Given the description of an element on the screen output the (x, y) to click on. 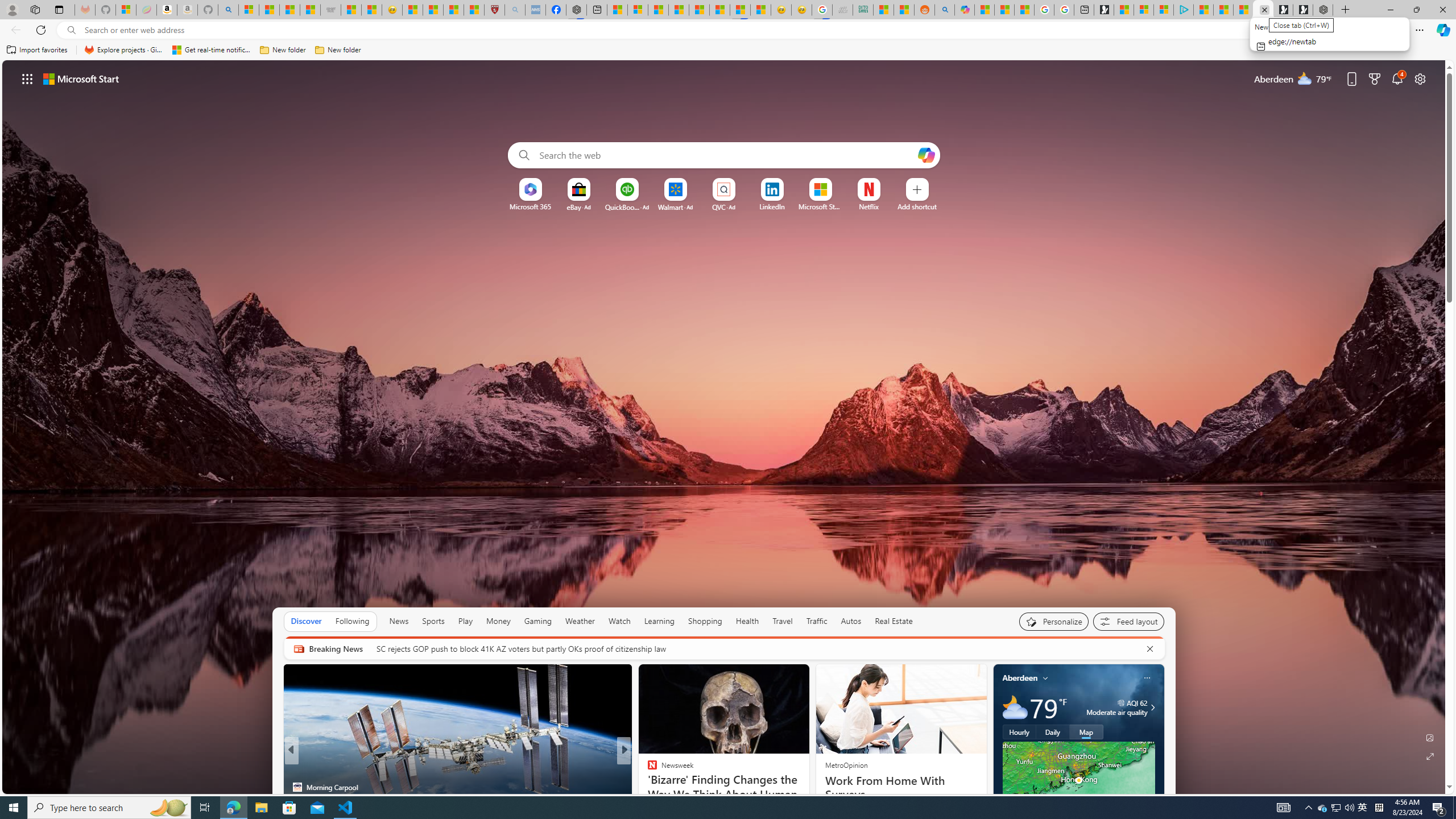
Larger map  (1077, 780)
Feed settings (1128, 621)
Personalize your feed" (1054, 621)
